Given the description of an element on the screen output the (x, y) to click on. 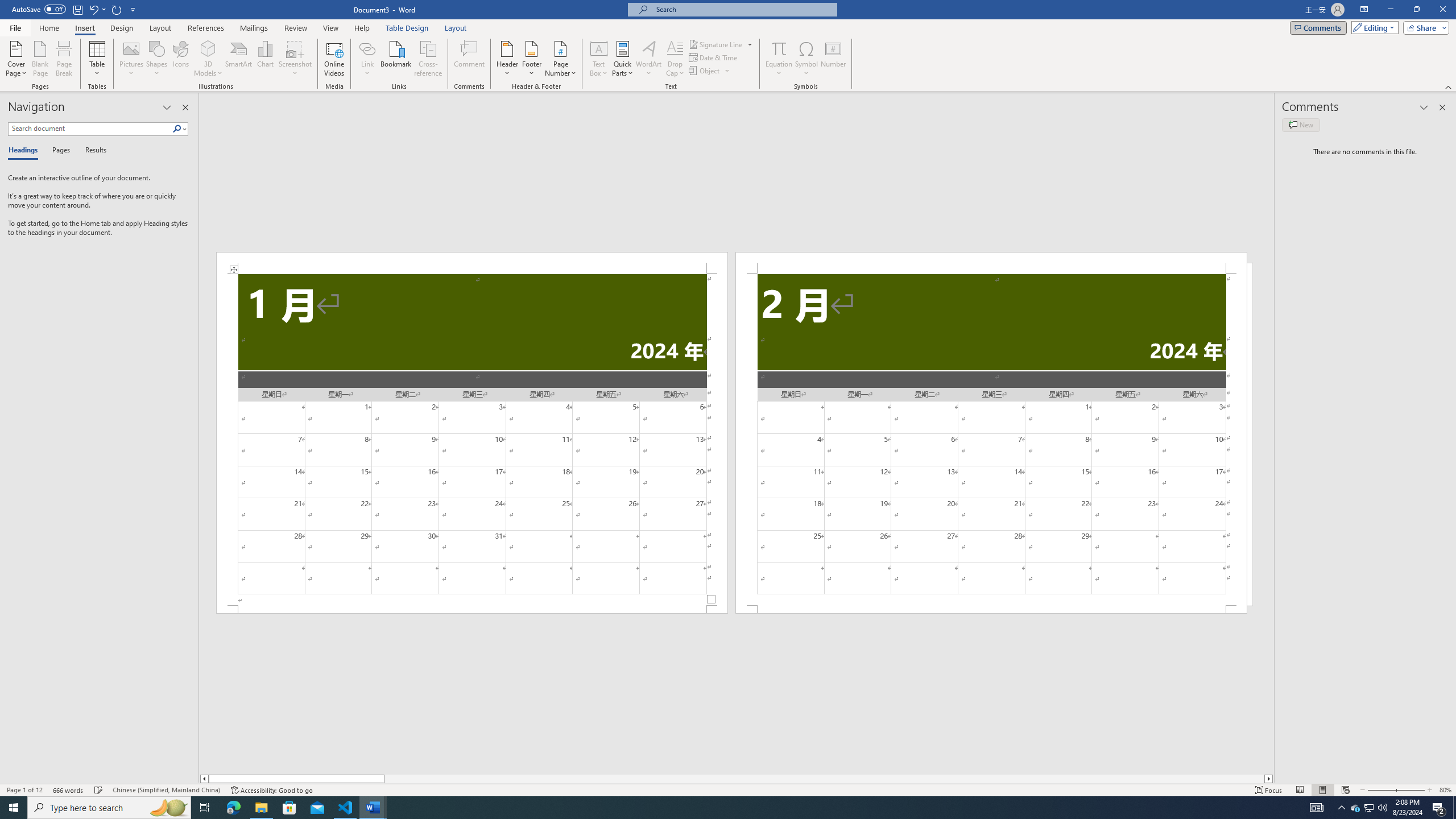
Header -Section 1- (471, 263)
Footer -Section 2- (991, 609)
Chart... (265, 58)
More Options (778, 68)
Pages (59, 150)
Equation (778, 48)
Pictures (131, 58)
Page 1 content (471, 439)
Page right (823, 778)
Object... (709, 69)
3D Models (208, 48)
Zoom In (1408, 790)
